Given the description of an element on the screen output the (x, y) to click on. 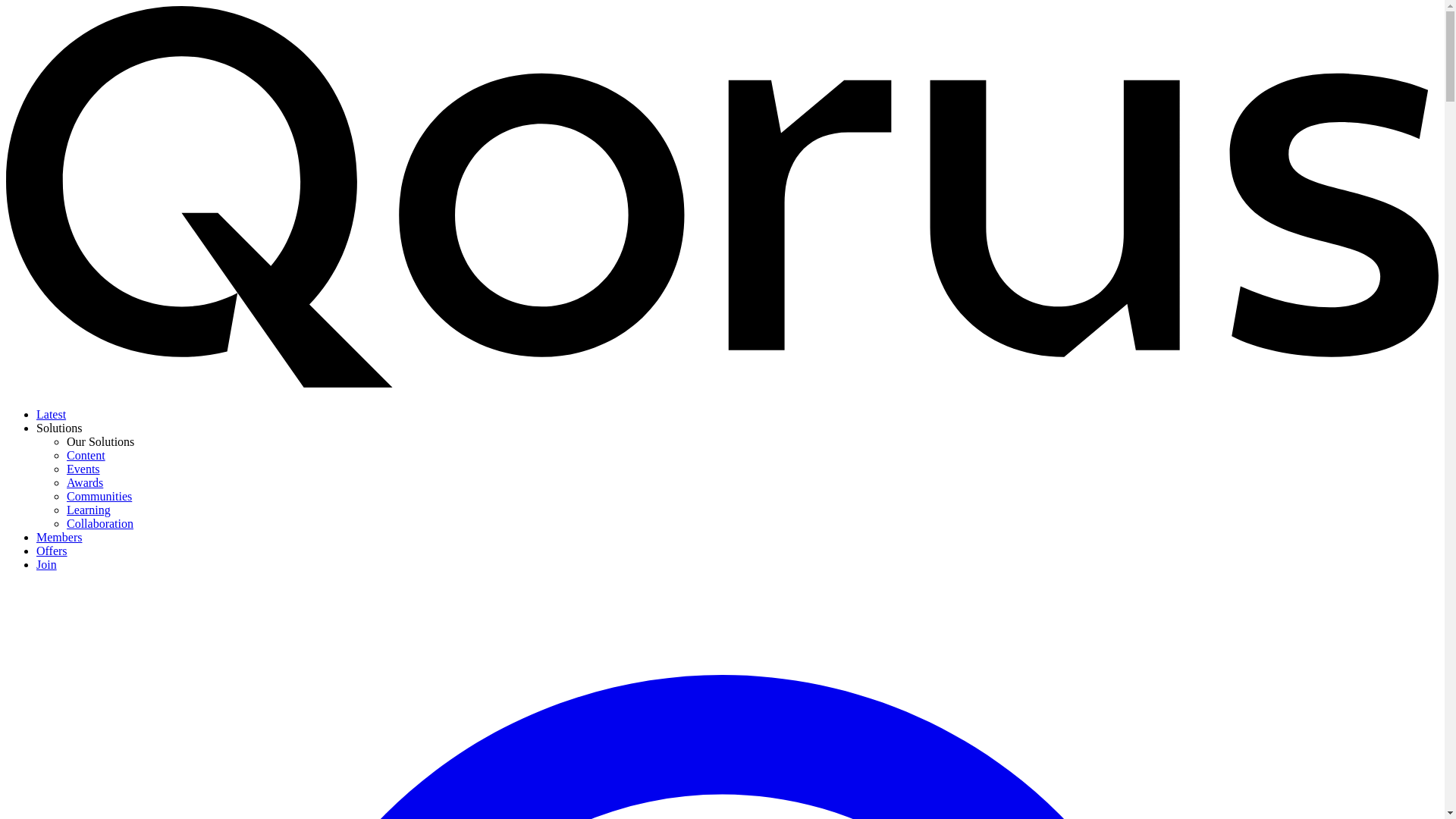
Learning (88, 509)
Communities (99, 495)
Members (58, 536)
Offers (51, 550)
Content (85, 454)
Awards (84, 481)
Latest (50, 413)
Solutions (58, 427)
Events (83, 468)
Join (46, 563)
